Given the description of an element on the screen output the (x, y) to click on. 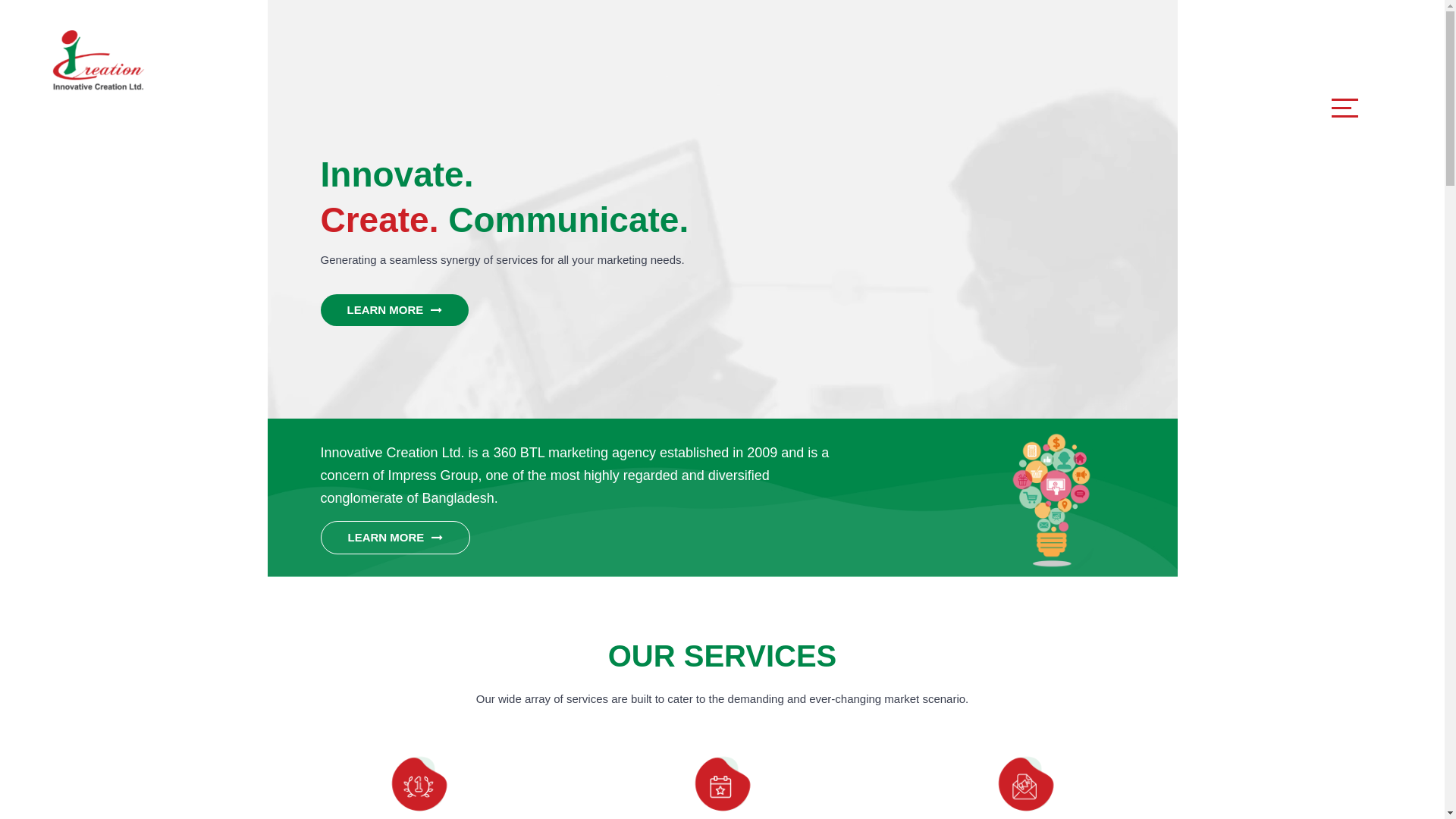
LEARN MORE Element type: text (394, 537)
LEARN MORE Element type: text (393, 310)
